Given the description of an element on the screen output the (x, y) to click on. 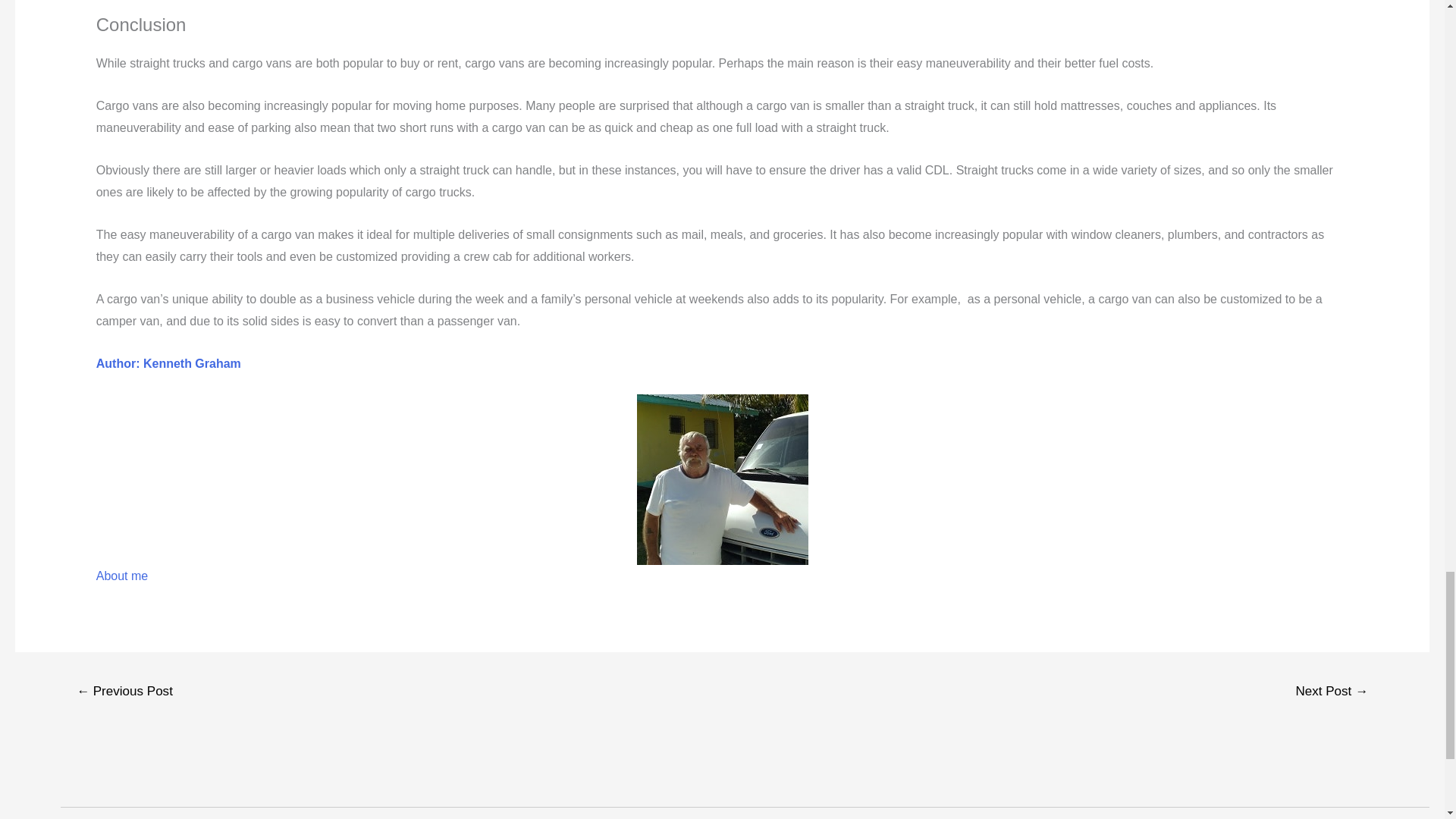
Author: Kenneth Graham (168, 363)
About me (122, 575)
